Given the description of an element on the screen output the (x, y) to click on. 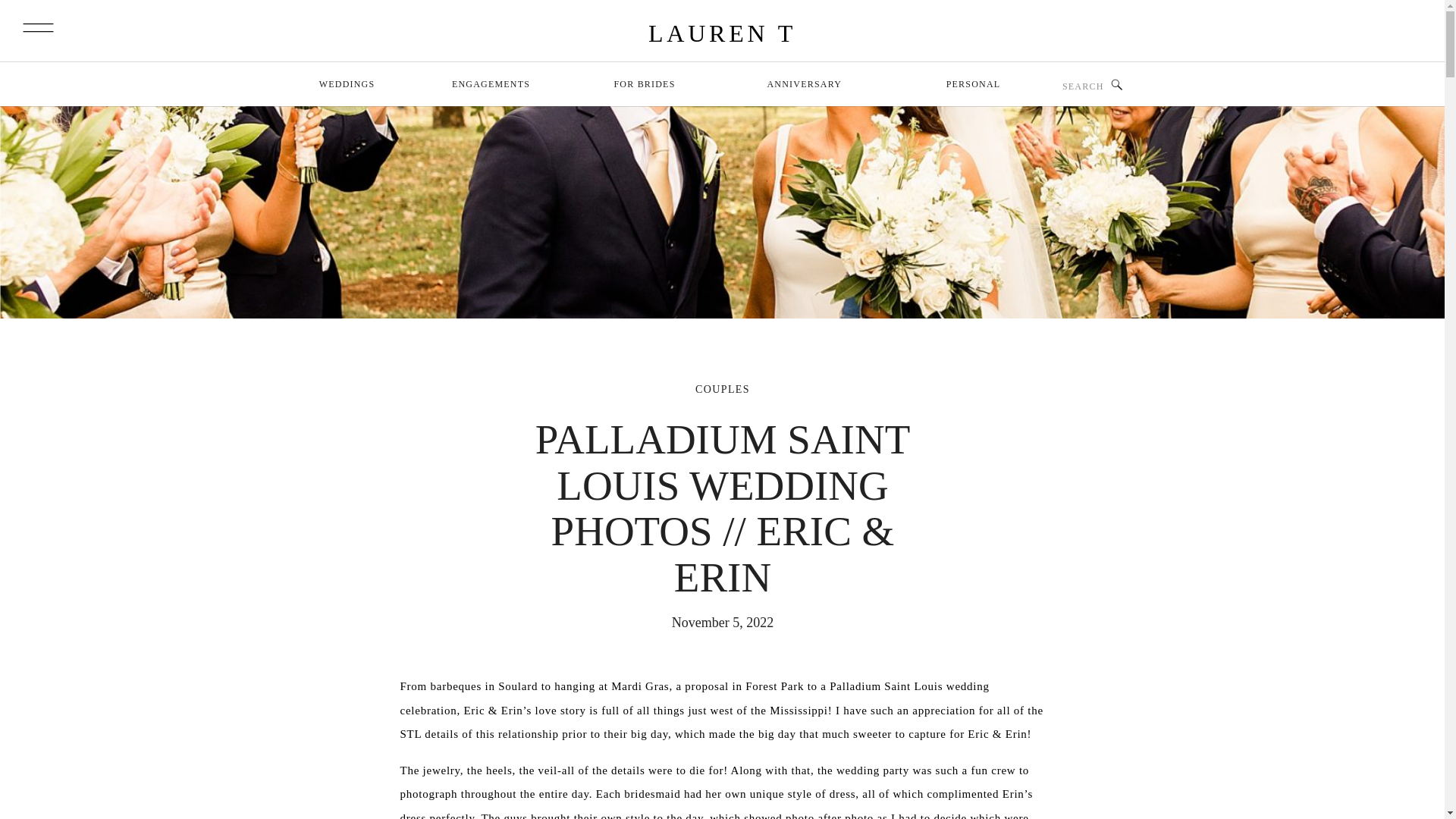
FOR BRIDES (644, 85)
PERSONAL (973, 85)
LAUREN T (722, 33)
ENGAGEMENTS (490, 85)
COUPLES (722, 389)
WEDDINGS (346, 85)
